Given the description of an element on the screen output the (x, y) to click on. 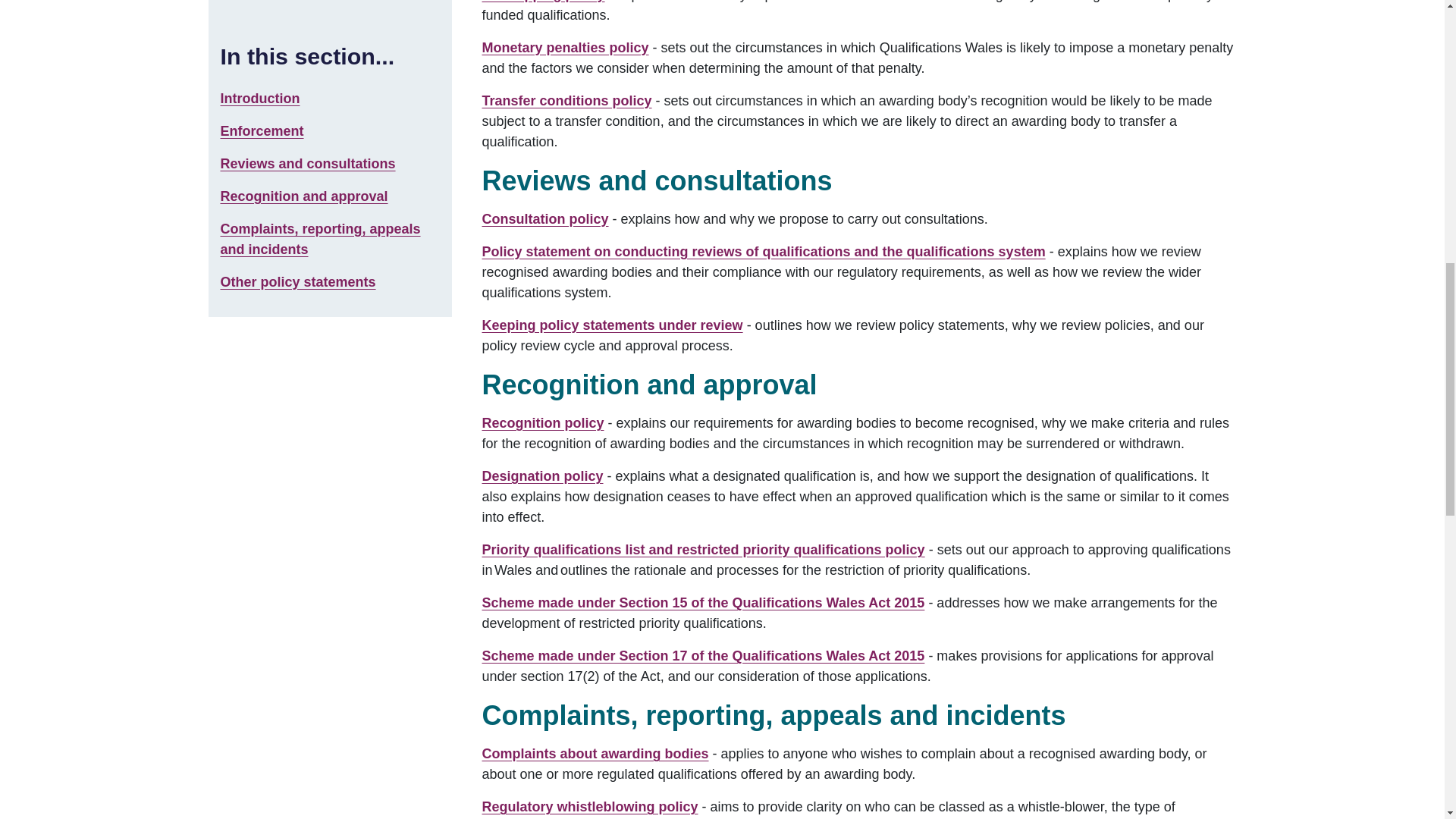
Pql And Restricted Priority Qualifications Policy (702, 549)
Transfer conditions policy (566, 100)
Complaints About Awarding Bodies (595, 753)
Monetary penalties policy (565, 47)
Designation Policy (542, 476)
Complaints, reporting, appeals and incidents (319, 2)
Consultation Policy (544, 218)
Consultation policy (544, 218)
